Given the description of an element on the screen output the (x, y) to click on. 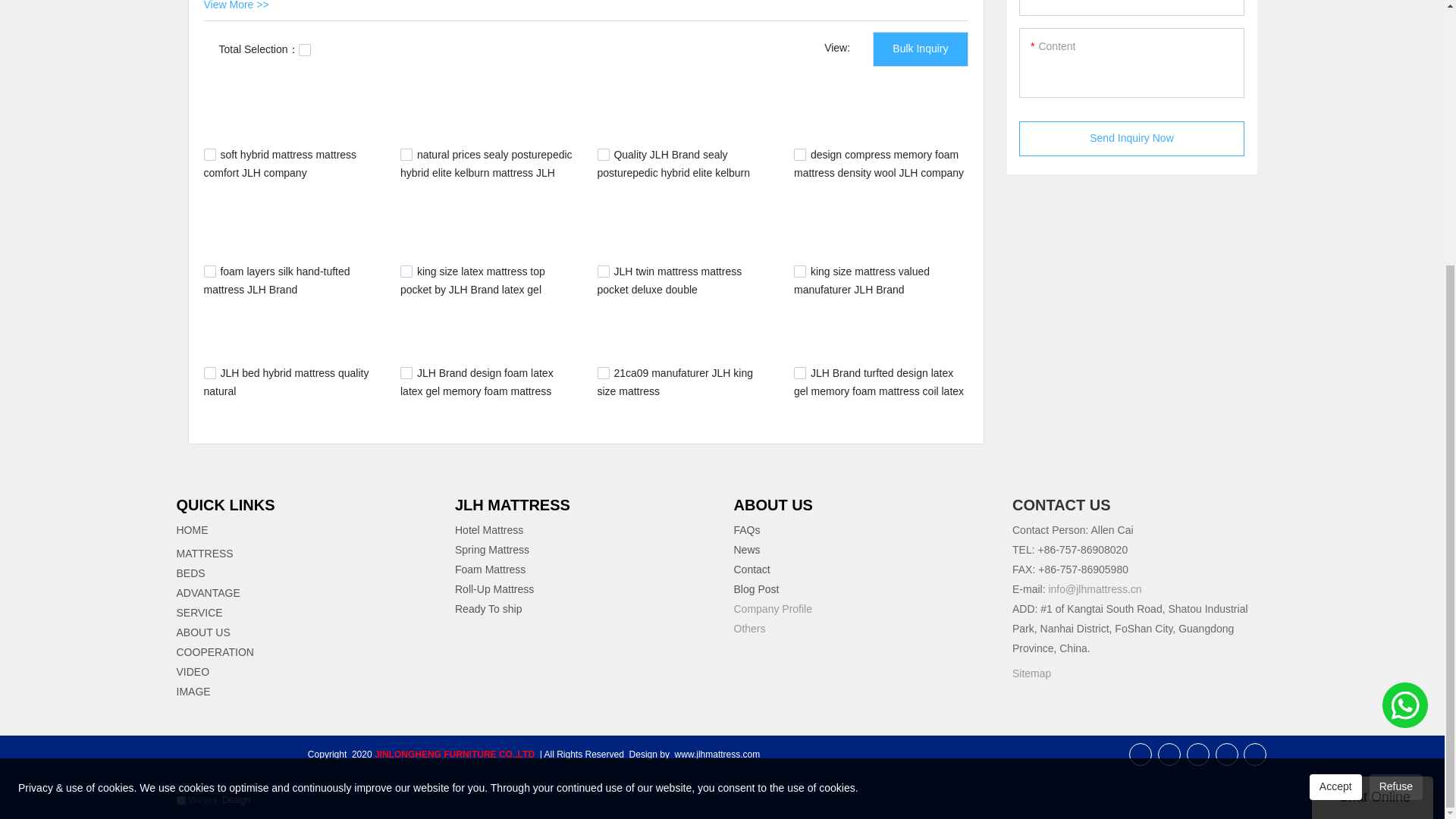
king size mattress valued manufaturer JLH Brand (861, 280)
foam layers silk hand-tufted mattress JLH Brand (276, 280)
387 (603, 372)
JLH bed hybrid mattress quality natural (285, 381)
soft hybrid mattress mattress comfort JLH company (279, 163)
1066 (209, 271)
442 (406, 372)
1121 (209, 154)
684 (603, 271)
1051 (406, 271)
1076 (799, 154)
JLH twin mattress mattress pocket deluxe double (669, 280)
